Given the description of an element on the screen output the (x, y) to click on. 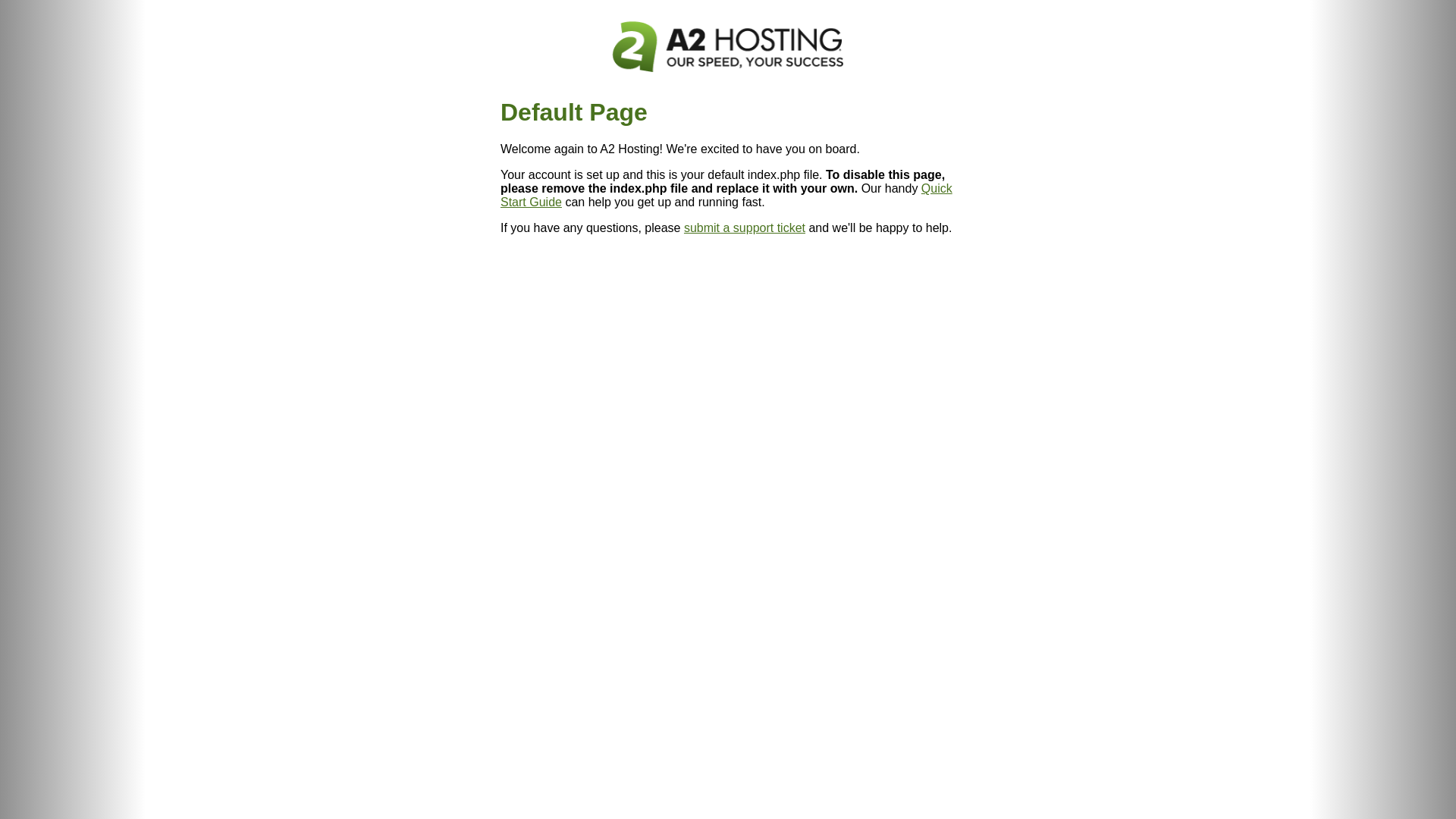
Quick Start Guide Element type: text (726, 195)
submit a support ticket Element type: text (744, 227)
